Given the description of an element on the screen output the (x, y) to click on. 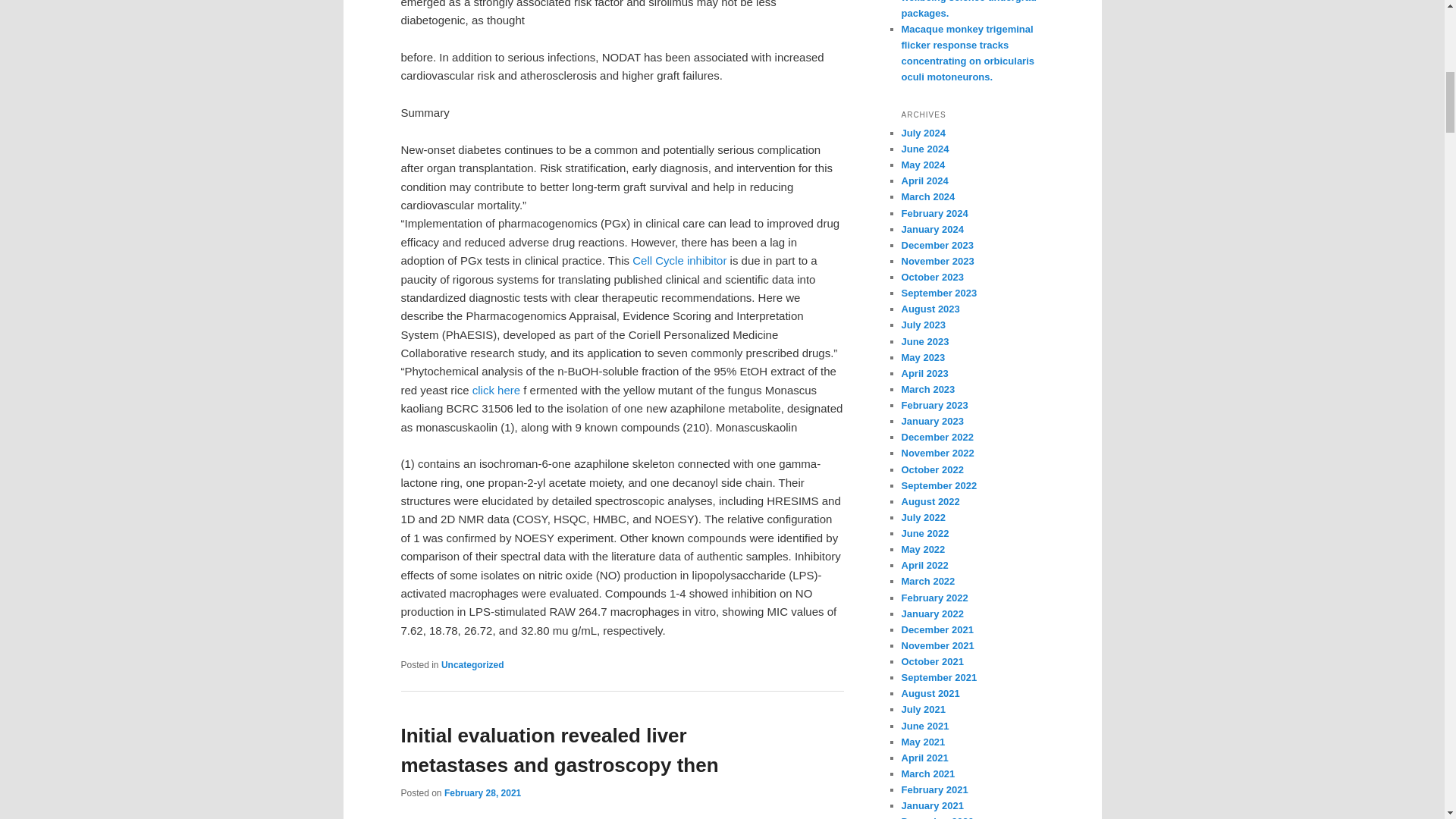
Uncategorized (472, 665)
Cell Cycle inhibitor (678, 259)
2:39 am (482, 792)
February 28, 2021 (482, 792)
click here (495, 390)
View all posts in Uncategorized (472, 665)
